Given the description of an element on the screen output the (x, y) to click on. 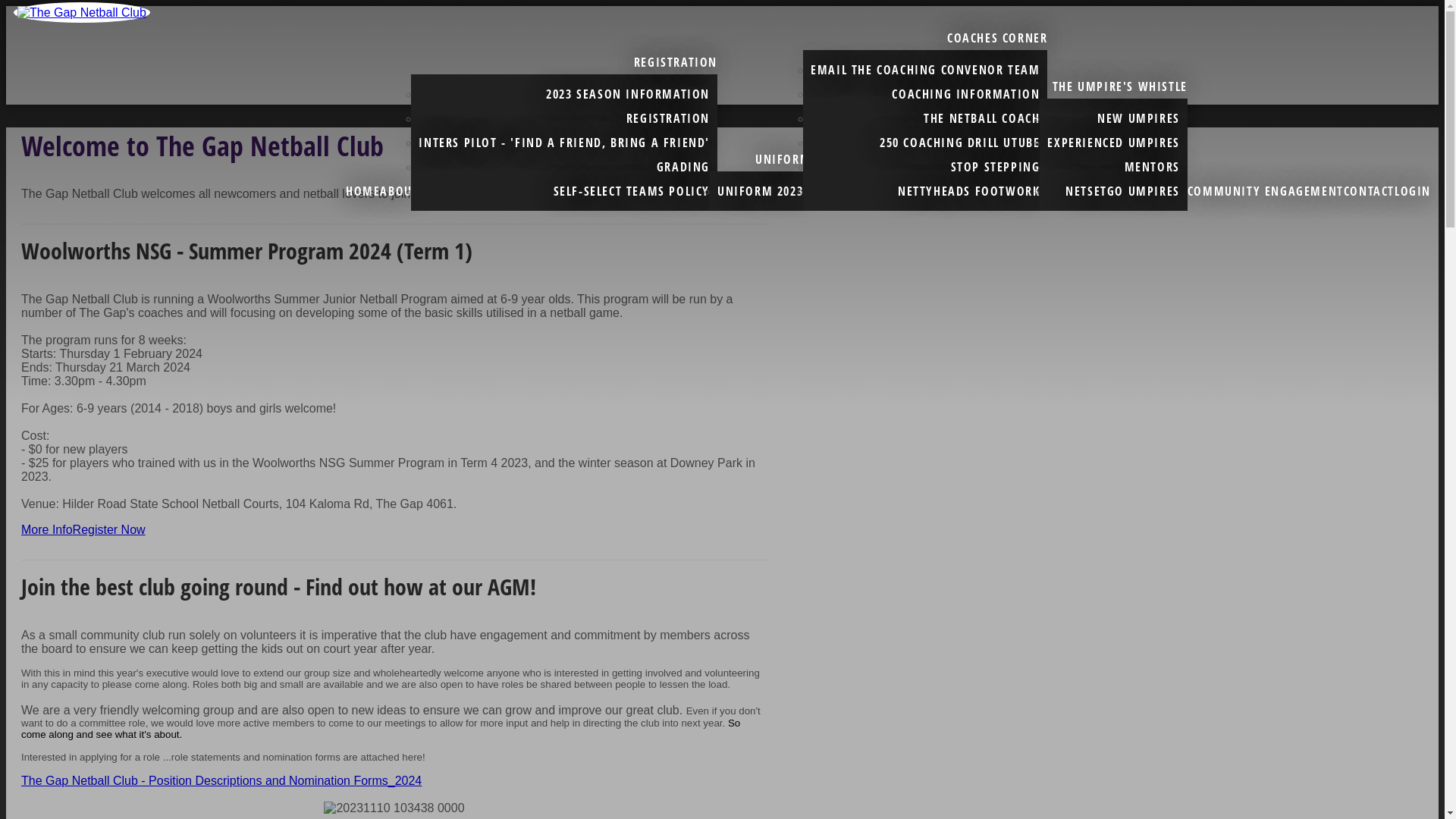
MENTORS Element type: text (1151, 166)
SELF-SELECT TEAMS POLICY Element type: text (631, 190)
NETSETGO UMPIRES Element type: text (1122, 190)
EXPERIENCED UMPIRES Element type: text (1113, 142)
INTERS PILOT - 'FIND A FRIEND, BRING A FRIEND' Element type: text (563, 142)
HOME Element type: text (362, 190)
COACHING INFORMATION Element type: text (965, 93)
CONTACT Element type: text (1368, 190)
REGISTRATION Element type: text (675, 61)
THE UMPIRE'S WHISTLE Element type: text (1119, 86)
UNIFORM 2023 Element type: text (760, 190)
Register Now Element type: text (108, 529)
UNIFORM Element type: text (782, 158)
COACHES CORNER Element type: text (997, 37)
NETTYHEADS FOOTWORK Element type: text (968, 190)
STOP STEPPING Element type: text (995, 166)
ABOUT Element type: text (398, 190)
LOGIN Element type: text (1412, 190)
More Info Element type: text (46, 529)
THE NETBALL COACH Element type: text (981, 117)
250 COACHING DRILL UTUBE Element type: text (959, 142)
EMAIL THE COACHING CONVENOR TEAM Element type: text (924, 69)
2023 SEASON INFORMATION Element type: text (627, 93)
NEW UMPIRES Element type: text (1138, 117)
GRADING Element type: text (682, 166)
COMMUNITY ENGAGEMENT Element type: text (1265, 190)
REGISTRATION Element type: text (667, 117)
